Given the description of an element on the screen output the (x, y) to click on. 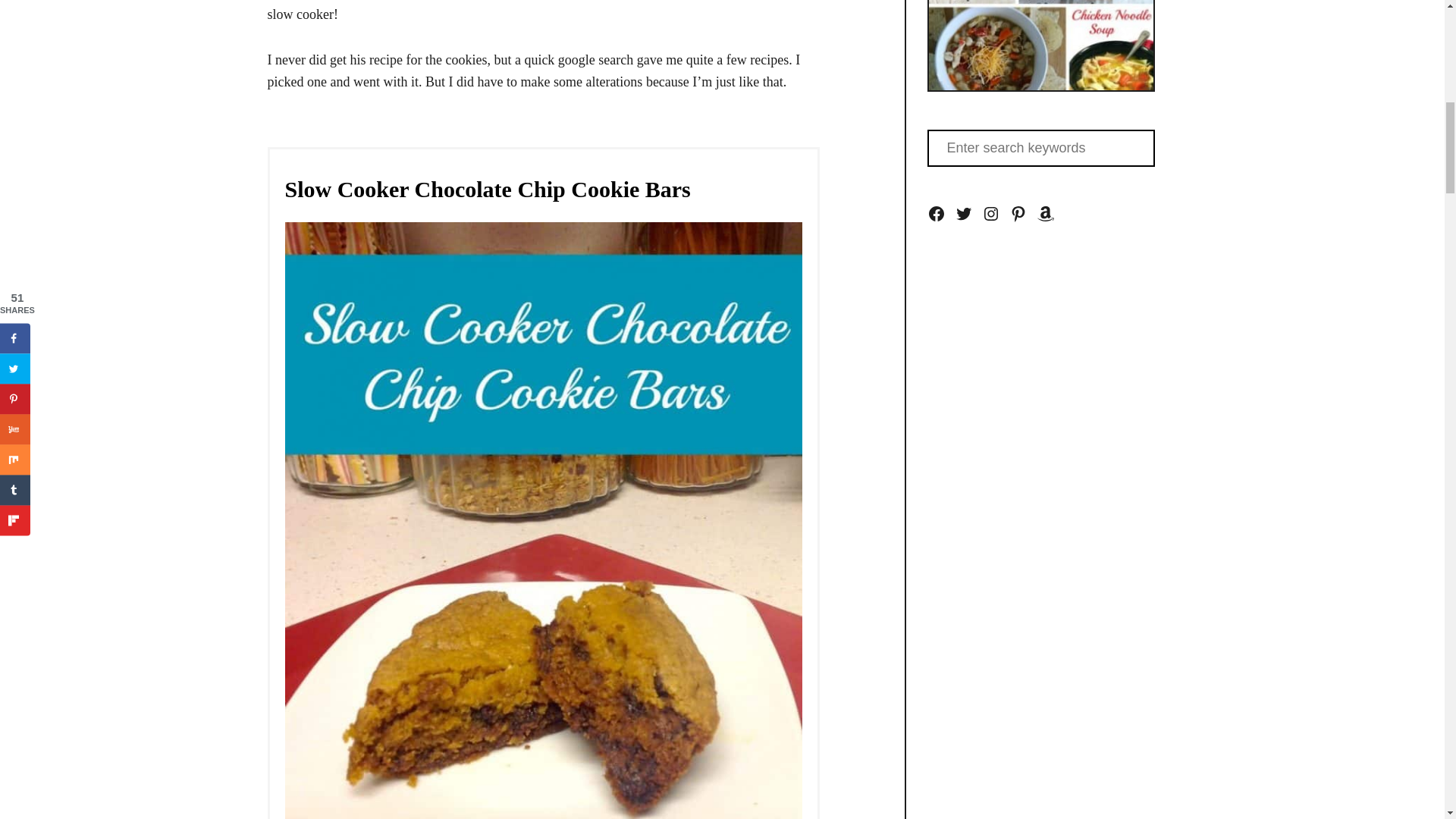
Search for: (1040, 148)
Twitter (962, 213)
Facebook (935, 213)
